Given the description of an element on the screen output the (x, y) to click on. 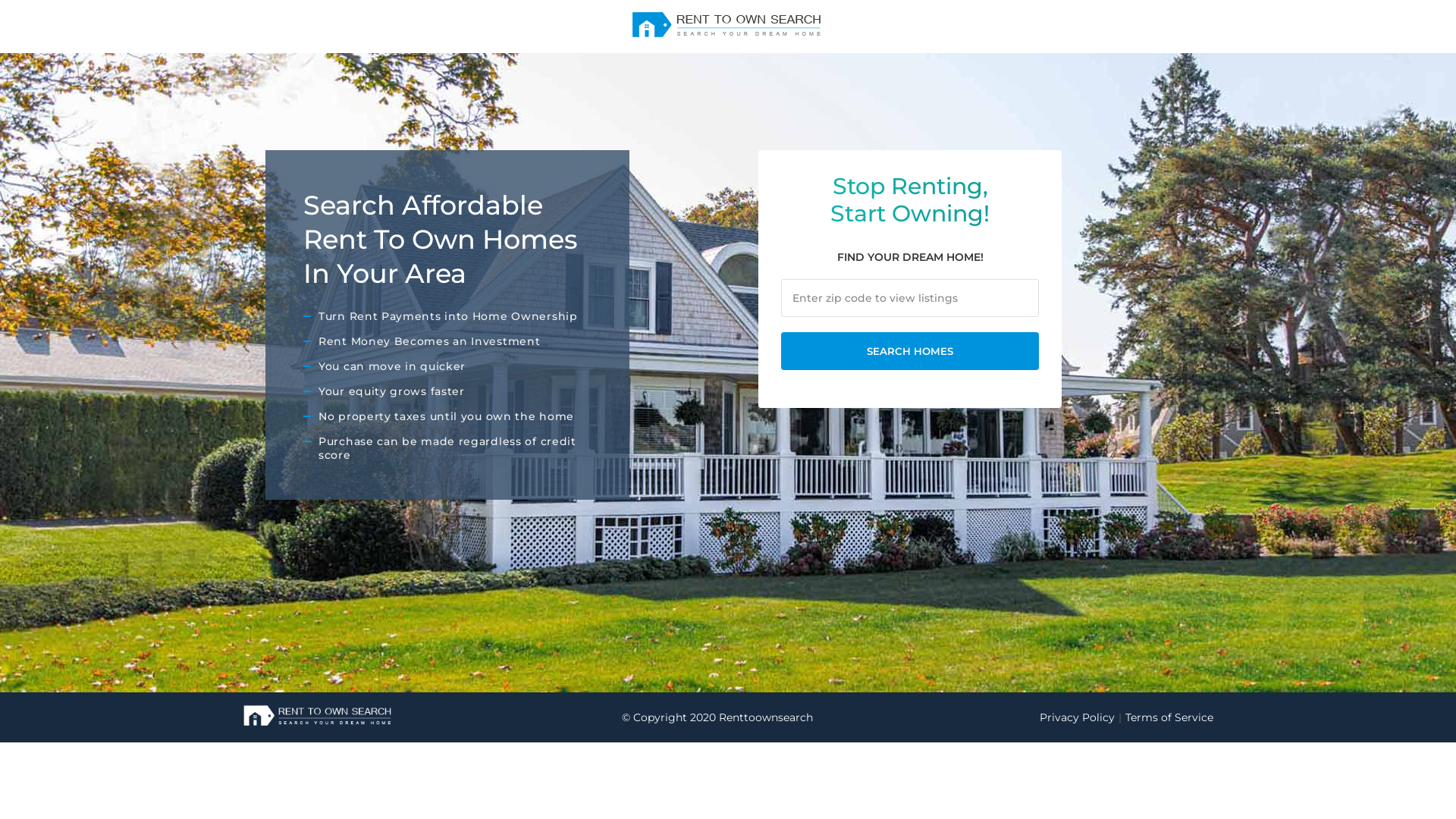
Privacy Policy Element type: text (1082, 717)
Terms of Service Element type: text (1169, 717)
renttoownsearch Element type: hover (727, 24)
SEARCH HOMES Element type: text (909, 351)
renttowonsearch Element type: hover (318, 715)
